Given the description of an element on the screen output the (x, y) to click on. 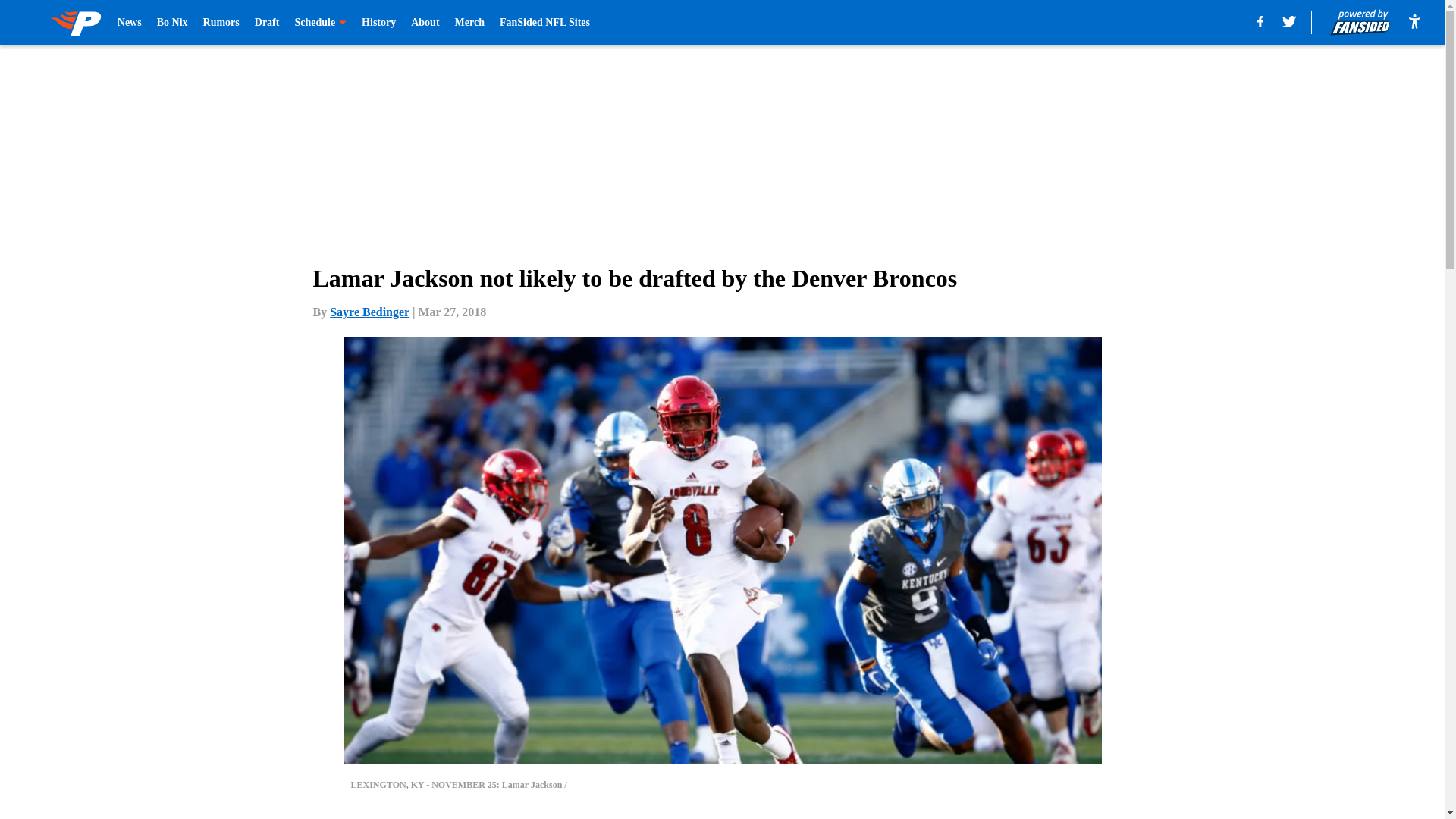
Sayre Bedinger (369, 311)
News (129, 22)
History (378, 22)
Rumors (221, 22)
About (424, 22)
Draft (266, 22)
FanSided NFL Sites (544, 22)
Merch (469, 22)
Bo Nix (172, 22)
